Given the description of an element on the screen output the (x, y) to click on. 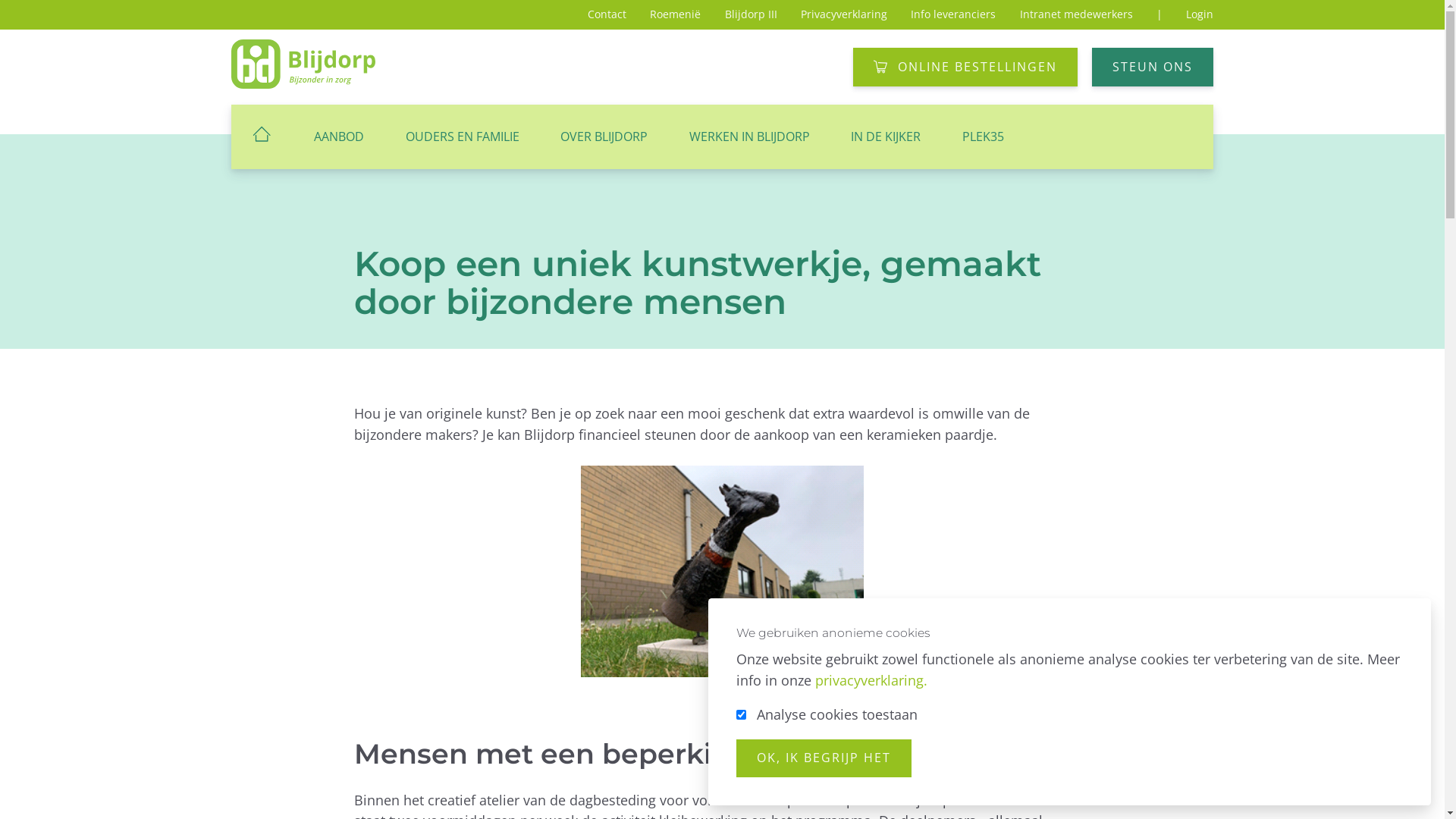
STEUN ONS Element type: text (1153, 66)
WERKEN IN BLIJDORP Element type: text (749, 136)
OK, IK BEGRIJP HET Element type: text (824, 758)
Intranet medewerkers Element type: text (1075, 13)
privacyverklaring. Element type: text (871, 680)
OVER BLIJDORP Element type: text (603, 136)
Blijdorp III Element type: text (750, 13)
ONLINE BESTELLINGEN Element type: text (965, 66)
PLEK35 Element type: text (983, 136)
Contact Element type: text (606, 13)
Login Element type: text (1199, 13)
Info leveranciers Element type: text (952, 13)
Privacyverklaring Element type: text (843, 13)
OUDERS EN FAMILIE Element type: text (461, 136)
